Given the description of an element on the screen output the (x, y) to click on. 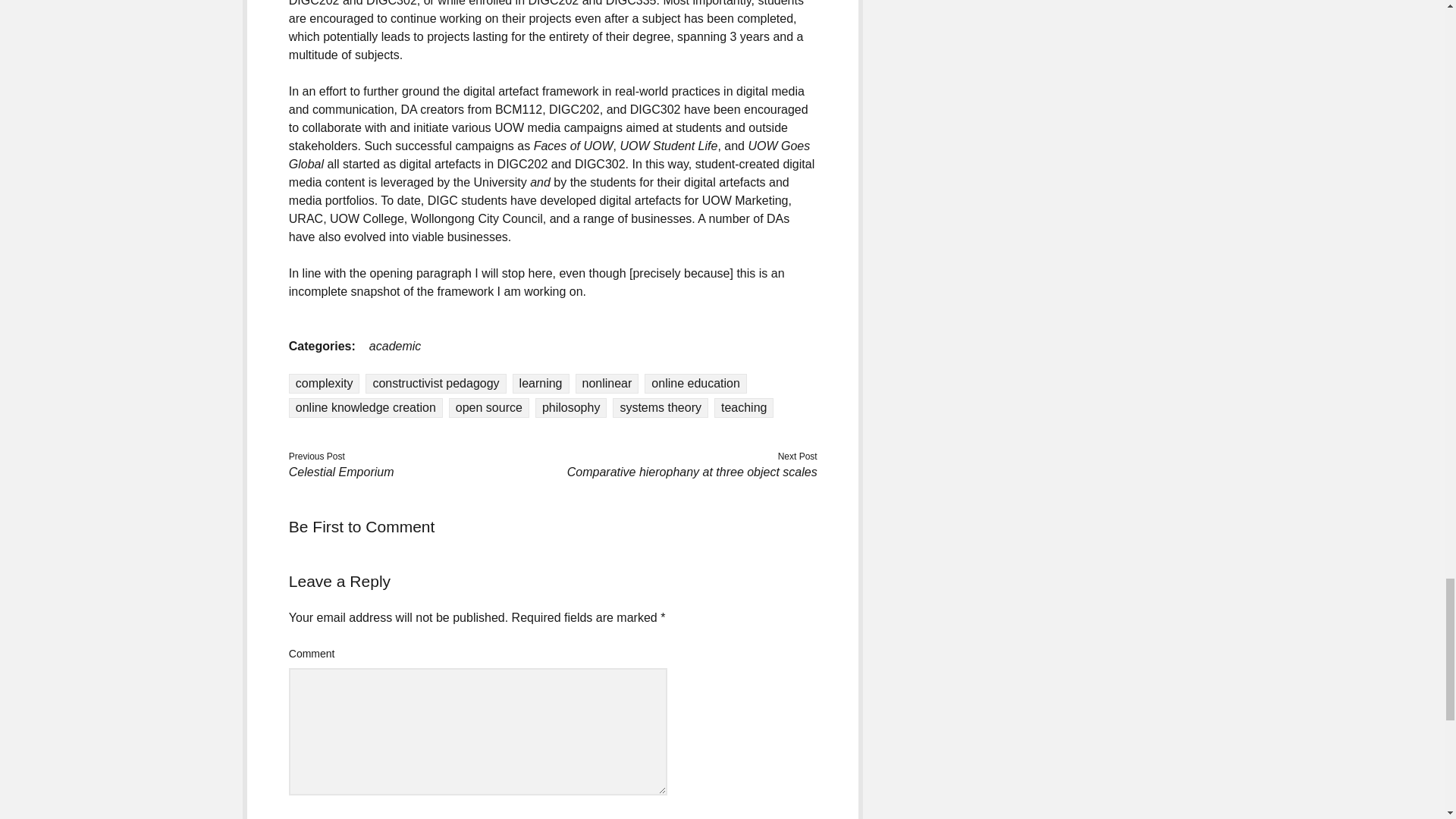
View all posts tagged complexity (323, 383)
complexity (323, 383)
View all posts in academic (394, 345)
nonlinear (607, 383)
Celestial Emporium (341, 472)
Comparative hierophany at three object scales (691, 472)
View all posts tagged learning (540, 383)
academic (394, 345)
learning (540, 383)
constructivist pedagogy (435, 383)
